Given the description of an element on the screen output the (x, y) to click on. 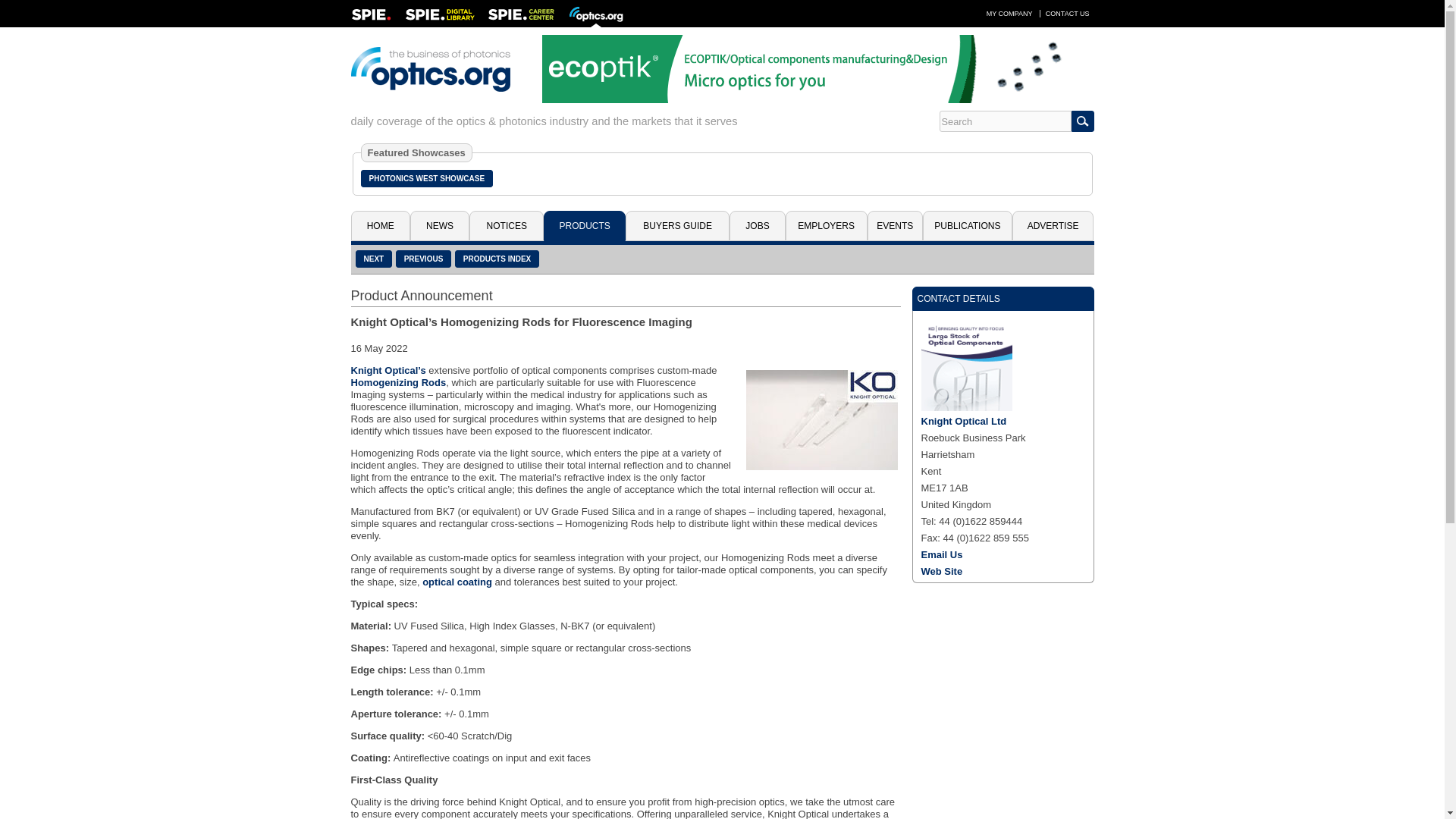
NOTICES (505, 225)
JOBS (757, 225)
Search (1004, 120)
MY COMPANY (1008, 13)
BUYERS GUIDE (677, 225)
NEWS (439, 225)
HOME (379, 225)
PRODUCTS (584, 225)
PHOTONICS WEST SHOWCASE (427, 178)
CONTACT US (1067, 13)
